Given the description of an element on the screen output the (x, y) to click on. 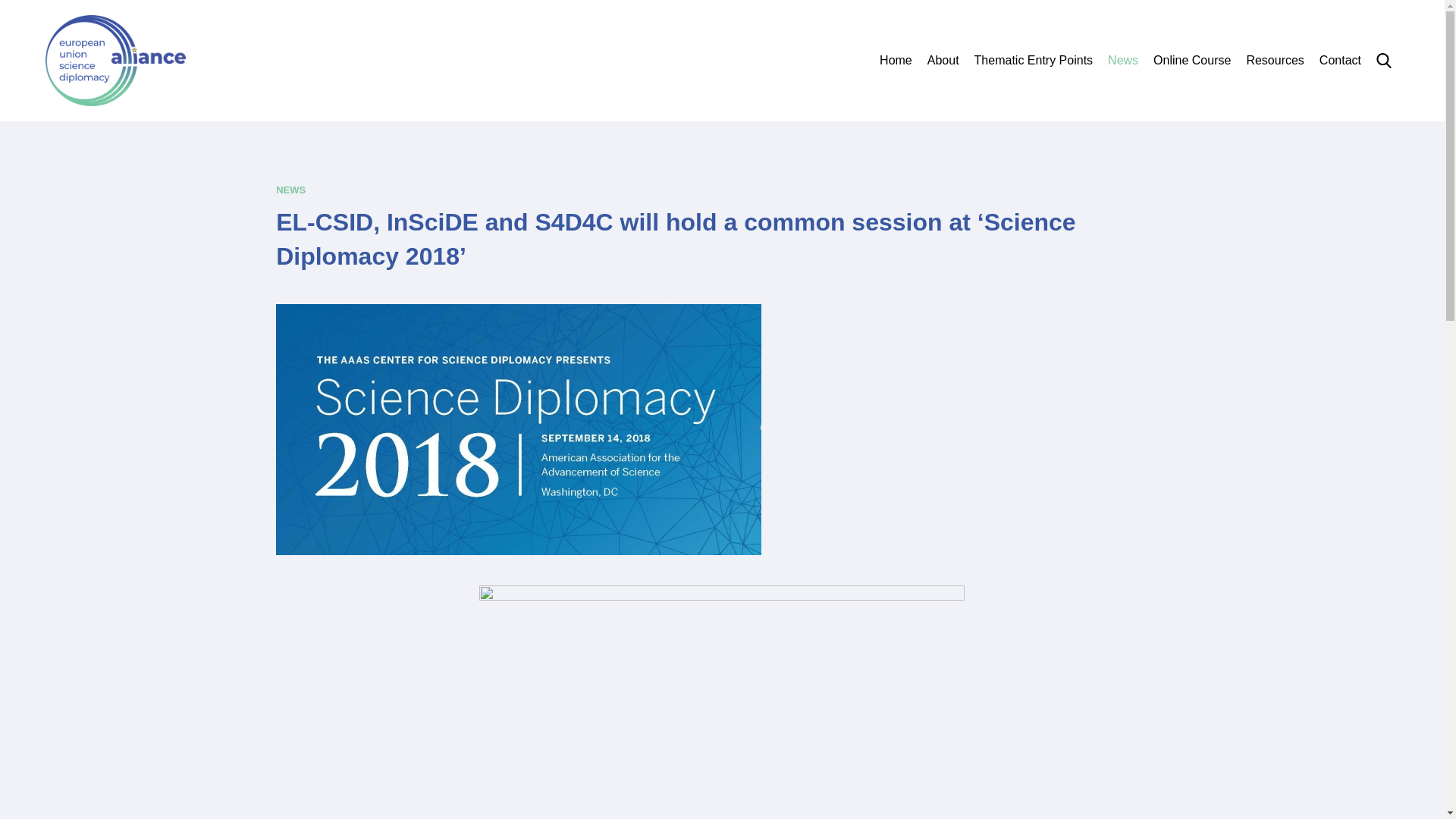
Contact (1340, 60)
Contact (1340, 60)
Online Course (1191, 60)
Search (1383, 60)
Thematic Entry Points (1033, 60)
Resources (1274, 60)
NEWS (290, 189)
Search (1314, 183)
